Given the description of an element on the screen output the (x, y) to click on. 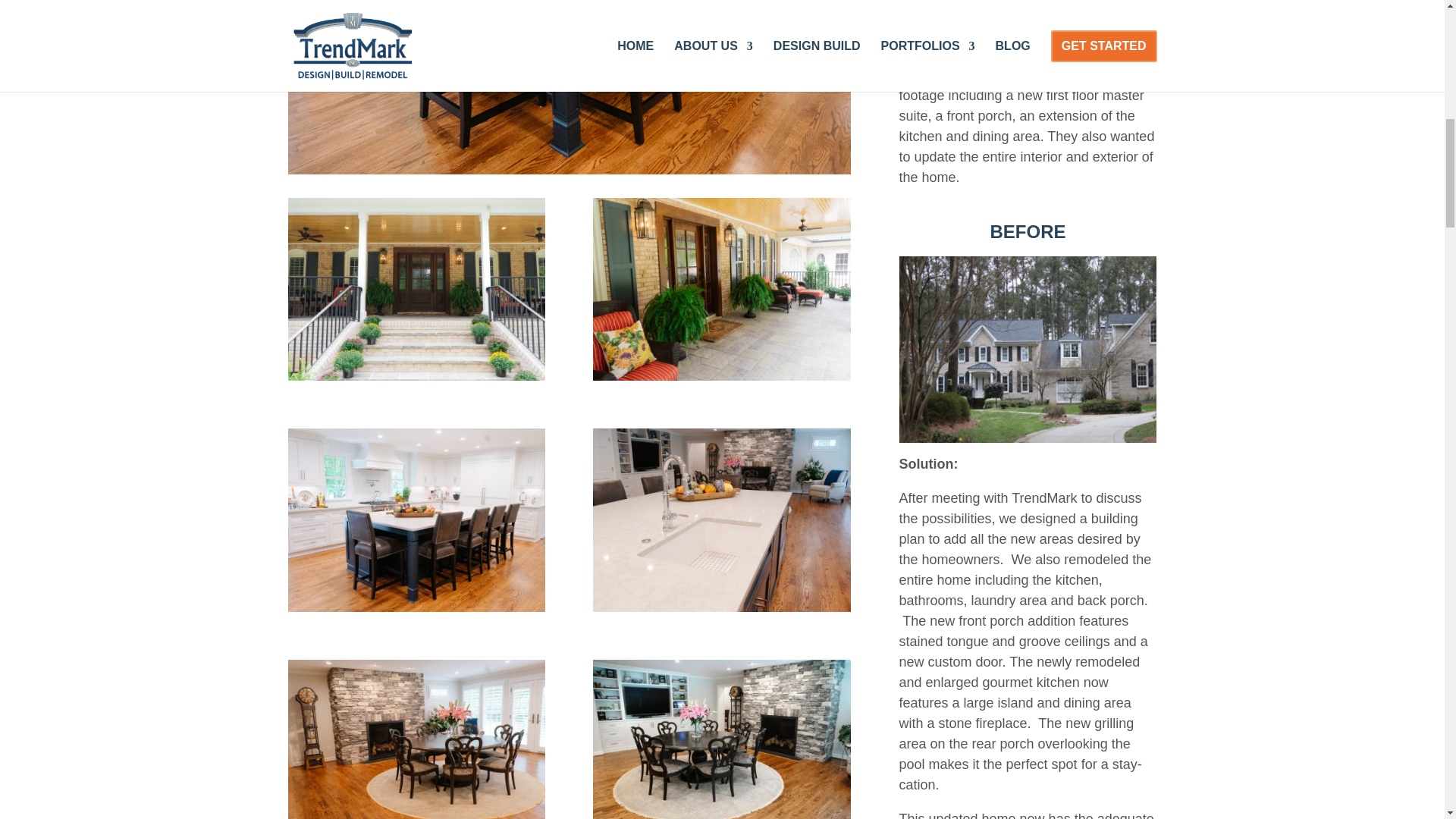
2020 Buckingham Addition-Whole House -60 (417, 376)
2020 Buckingham Addition-Whole House -48 (721, 607)
2020 Buckingham Addition-Whole House -46 (417, 607)
2020 Buckingham Addition-Whole House -10 (569, 86)
2020 Buckingham Addition-Whole House -53 (721, 376)
